Given the description of an element on the screen output the (x, y) to click on. 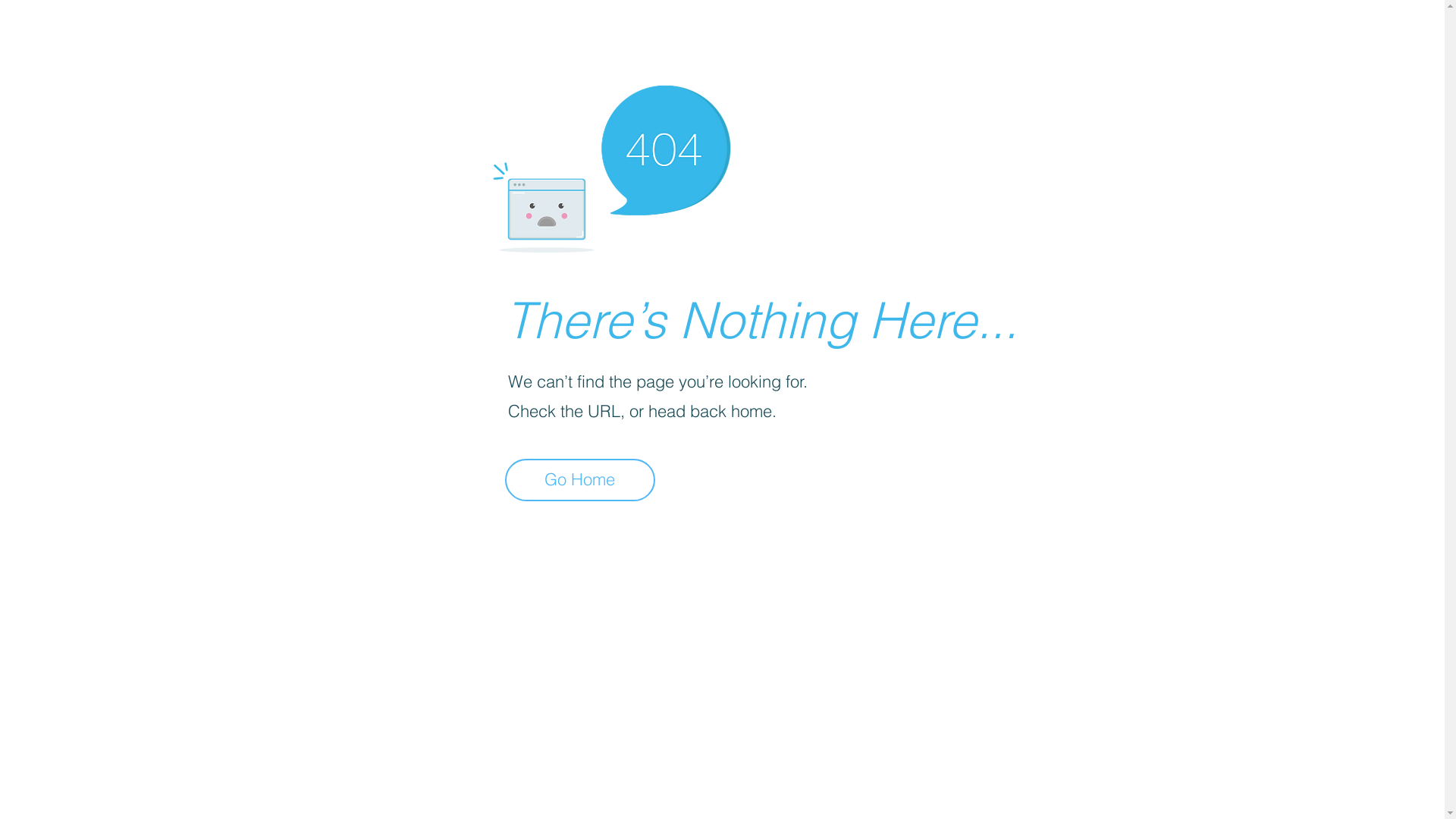
Go Home Element type: text (580, 479)
404-icon_2.png Element type: hover (610, 164)
